Given the description of an element on the screen output the (x, y) to click on. 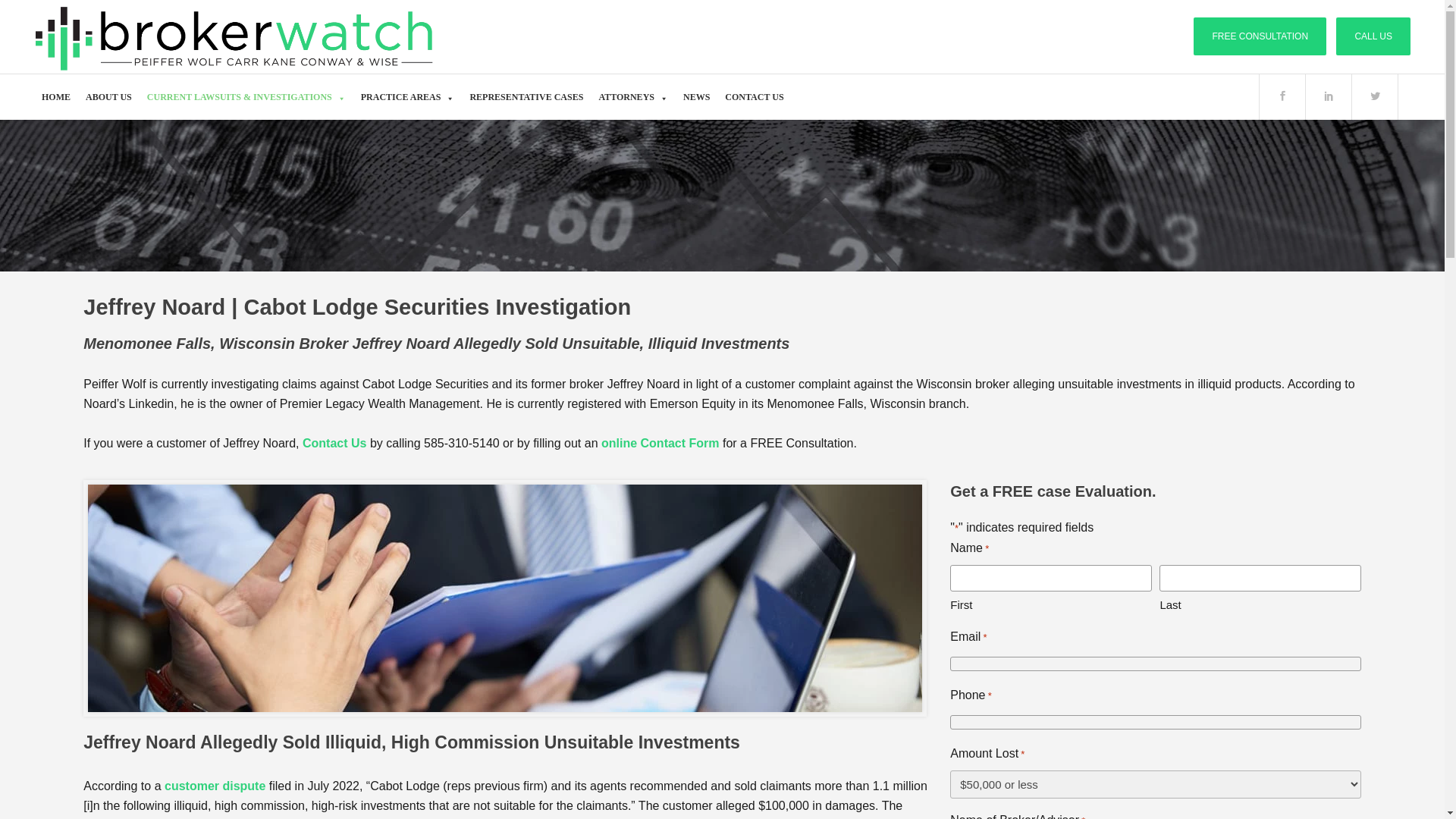
CALL US (1373, 36)
PRACTICE AREAS (408, 96)
FREE CONSULTATION (1259, 36)
ABOUT US (108, 96)
HOME (55, 96)
